Given the description of an element on the screen output the (x, y) to click on. 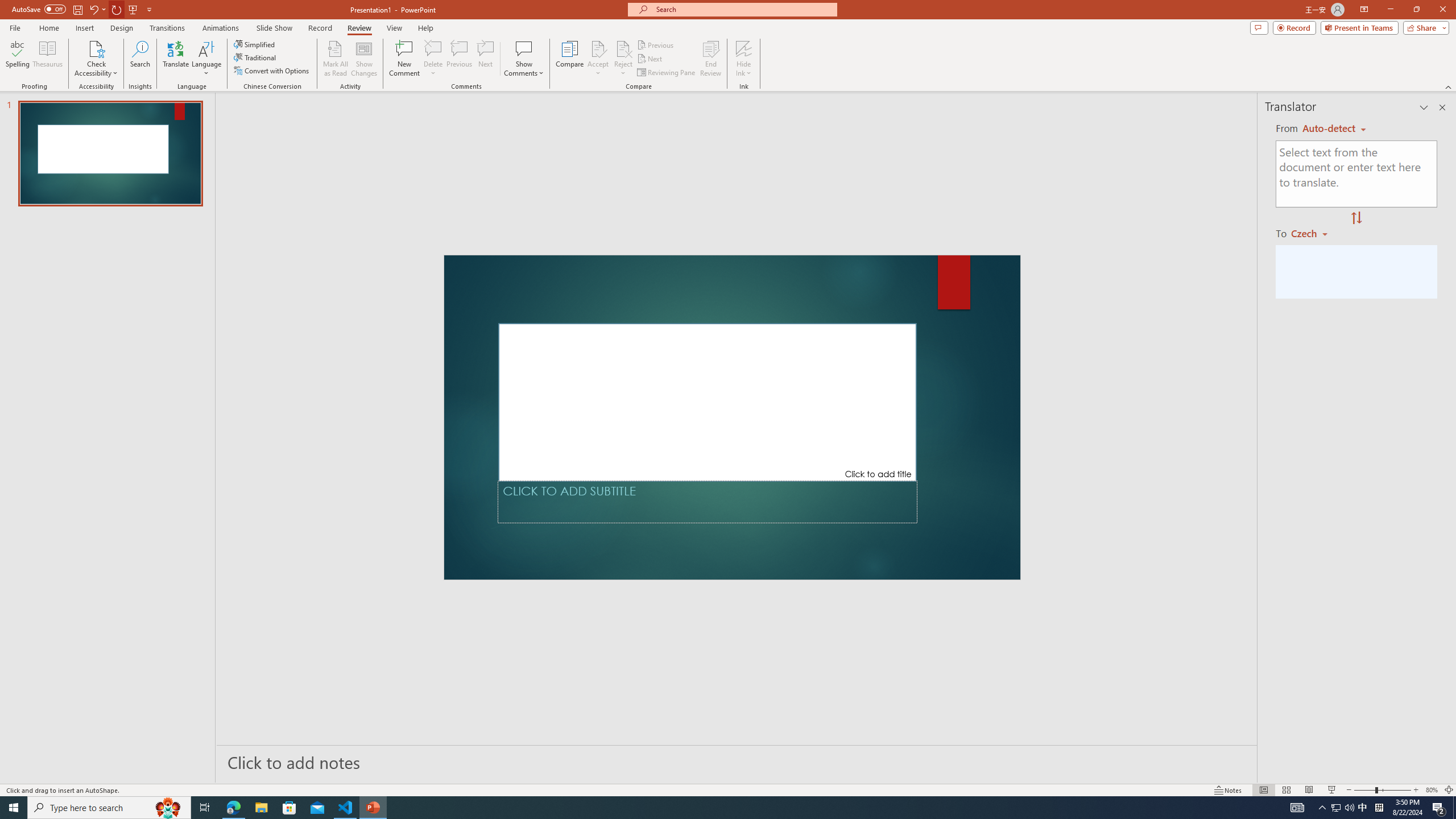
Swap "from" and "to" languages. (1355, 218)
End Review (710, 58)
Reject Change (622, 48)
Convert with Options... (272, 69)
New Comment (403, 58)
